Given the description of an element on the screen output the (x, y) to click on. 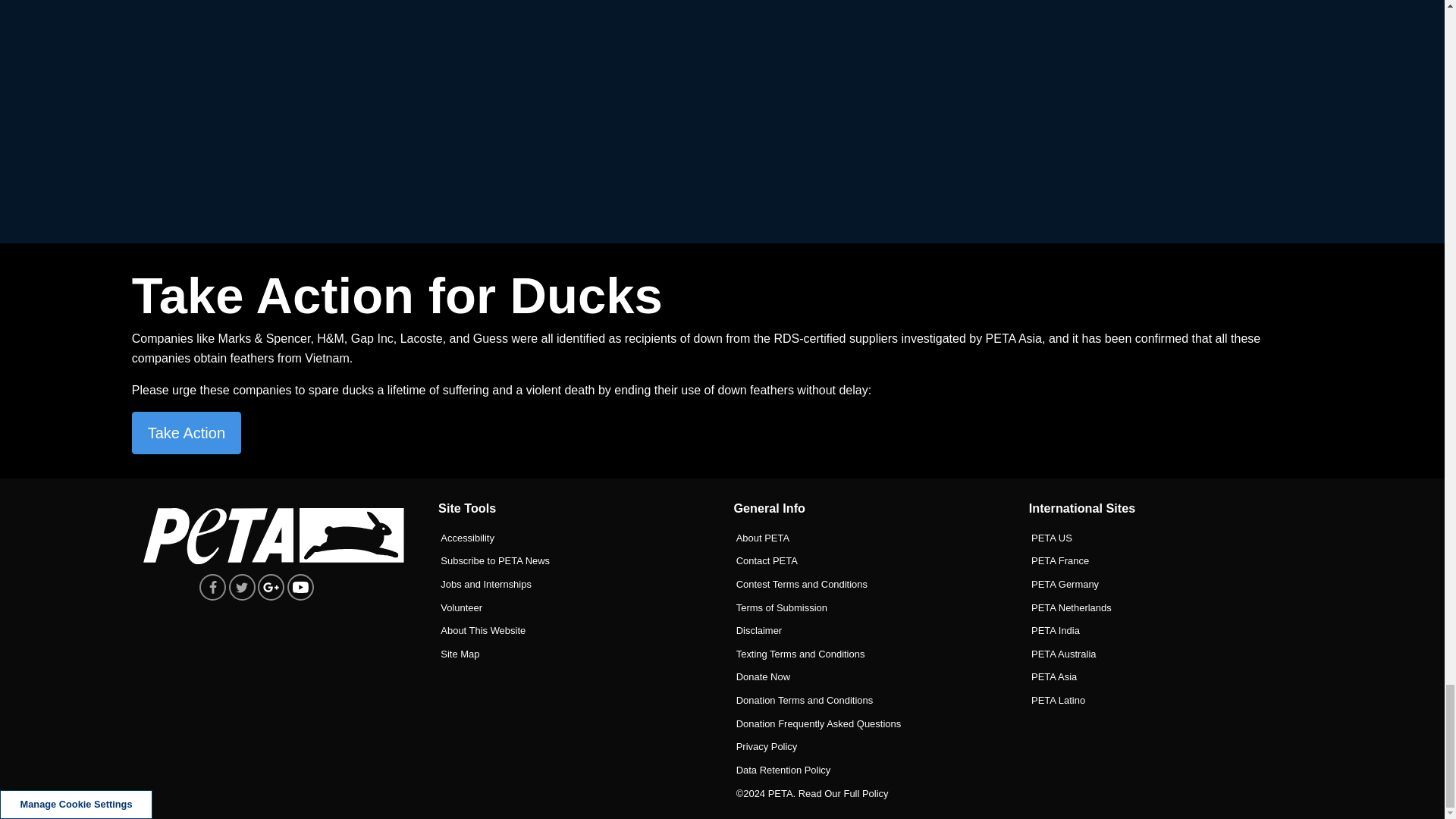
About This Website (574, 626)
Jobs and Internships (574, 580)
Disclaimer (869, 626)
PETA Asia (1165, 672)
Data Retention Policy (869, 766)
Share on Facebook (212, 587)
Accessibility (574, 533)
Contest Terms and Conditions (869, 580)
Share on Google Plus (270, 587)
Donation Frequently Asked Questions (869, 719)
